Given the description of an element on the screen output the (x, y) to click on. 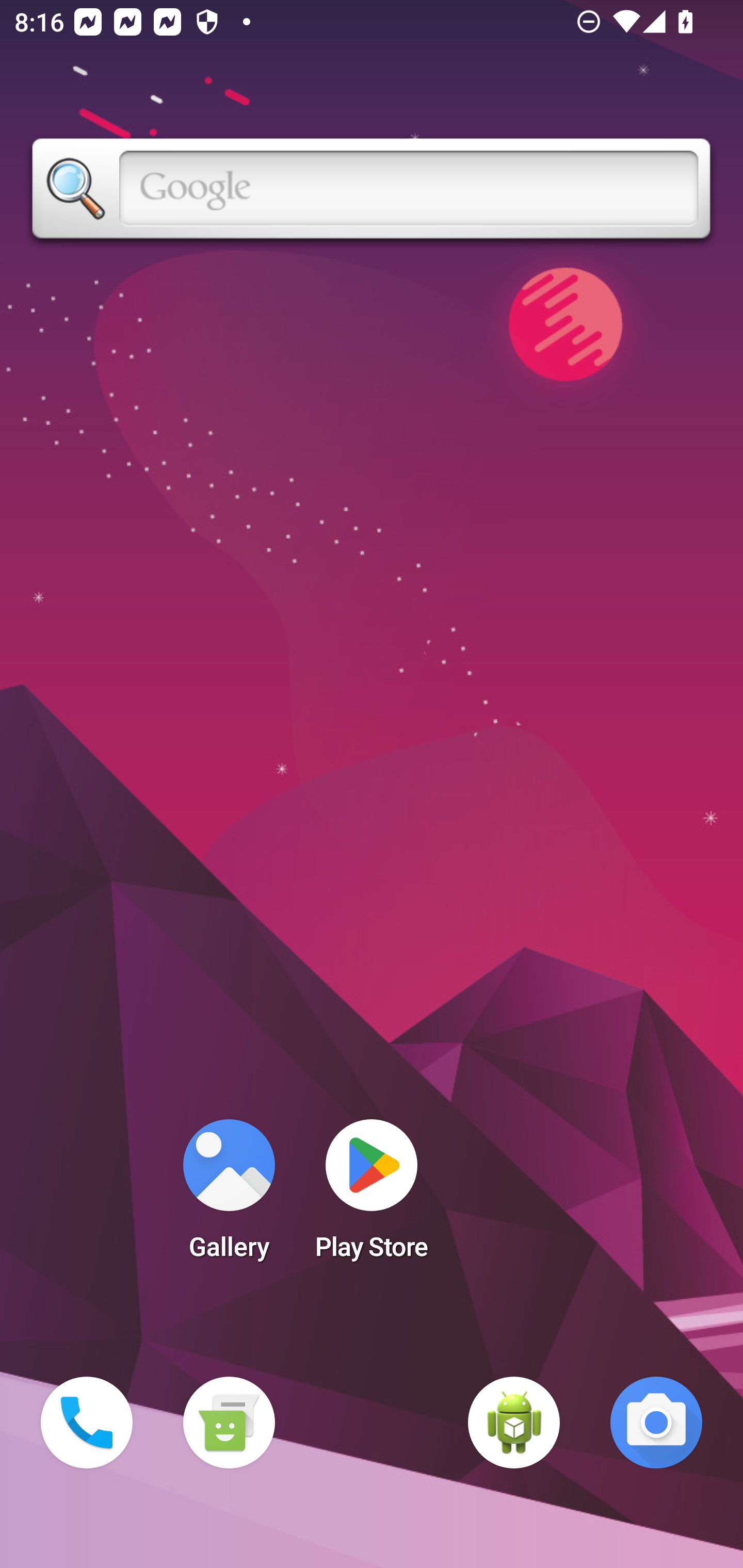
Gallery (228, 1195)
Play Store (371, 1195)
Phone (86, 1422)
Messaging (228, 1422)
WebView Browser Tester (513, 1422)
Camera (656, 1422)
